Given the description of an element on the screen output the (x, y) to click on. 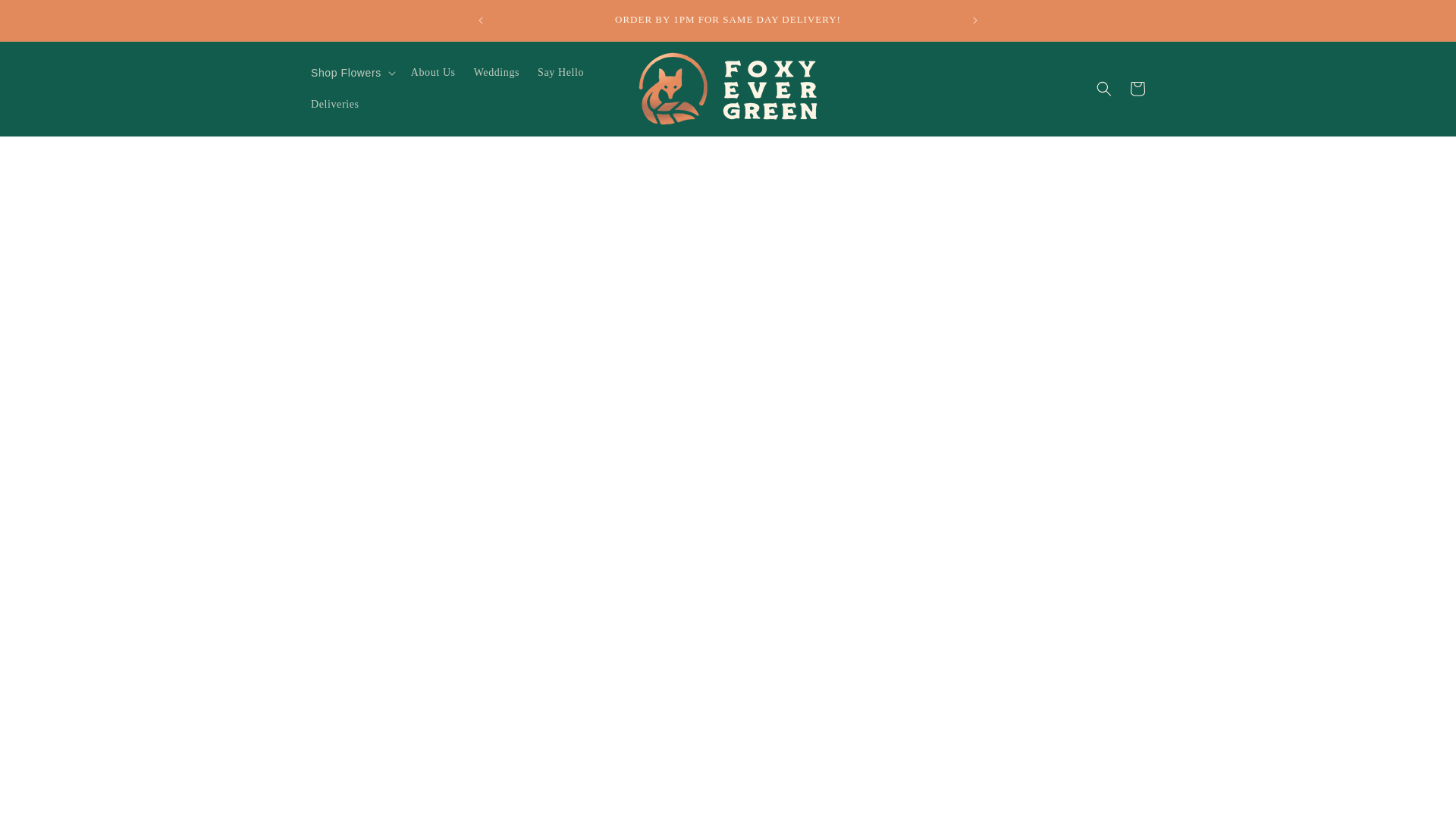
Deliveries (334, 104)
Say Hello (560, 72)
Cart (1137, 88)
Skip to content (45, 17)
About Us (432, 72)
Weddings (496, 72)
